Given the description of an element on the screen output the (x, y) to click on. 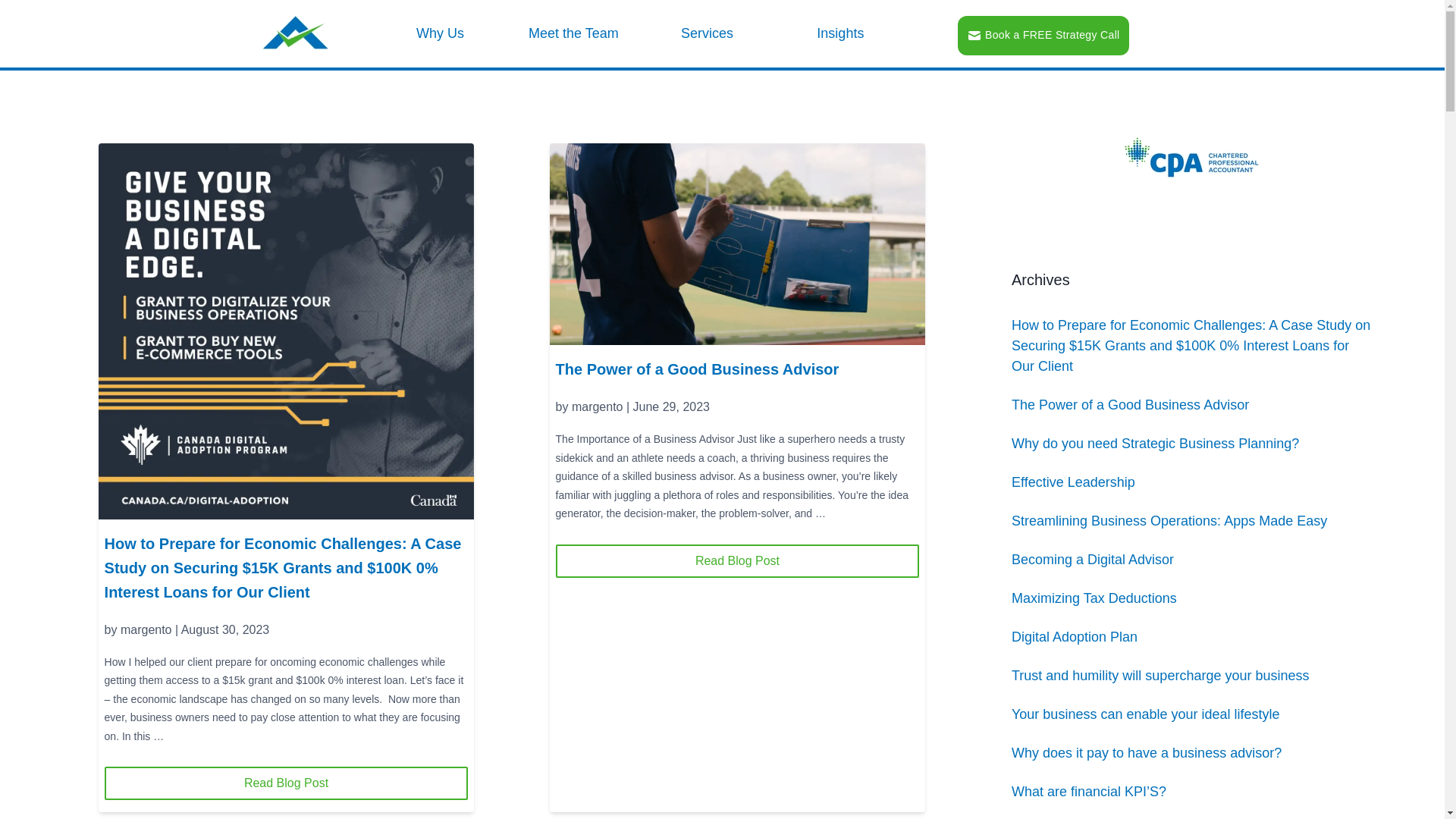
Read Blog Post Element type: text (737, 561)
The Power of a Good Business Advisor Element type: text (697, 368)
Insights Element type: text (846, 34)
Book a FREE Strategy Call Element type: text (1043, 34)
Services Element type: text (712, 34)
Effective Leadership Element type: text (1073, 481)
Read Blog Post Element type: text (286, 783)
Read Blog Post Element type: text (737, 560)
Trust and humility will supercharge your business Element type: text (1160, 675)
Read Blog Post Element type: text (286, 783)
Meet the Team Element type: text (579, 34)
Why does it pay to have a business advisor? Element type: text (1146, 752)
Why Us Element type: text (445, 34)
Maximizing Tax Deductions Element type: text (1093, 597)
Digital Adoption Plan Element type: text (1074, 636)
Becoming a Digital Advisor Element type: text (1092, 559)
Why do you need Strategic Business Planning? Element type: text (1155, 443)
Your business can enable your ideal lifestyle Element type: text (1145, 713)
The Power of a Good Business Advisor Element type: text (1129, 404)
Streamlining Business Operations: Apps Made Easy Element type: text (1169, 520)
